Given the description of an element on the screen output the (x, y) to click on. 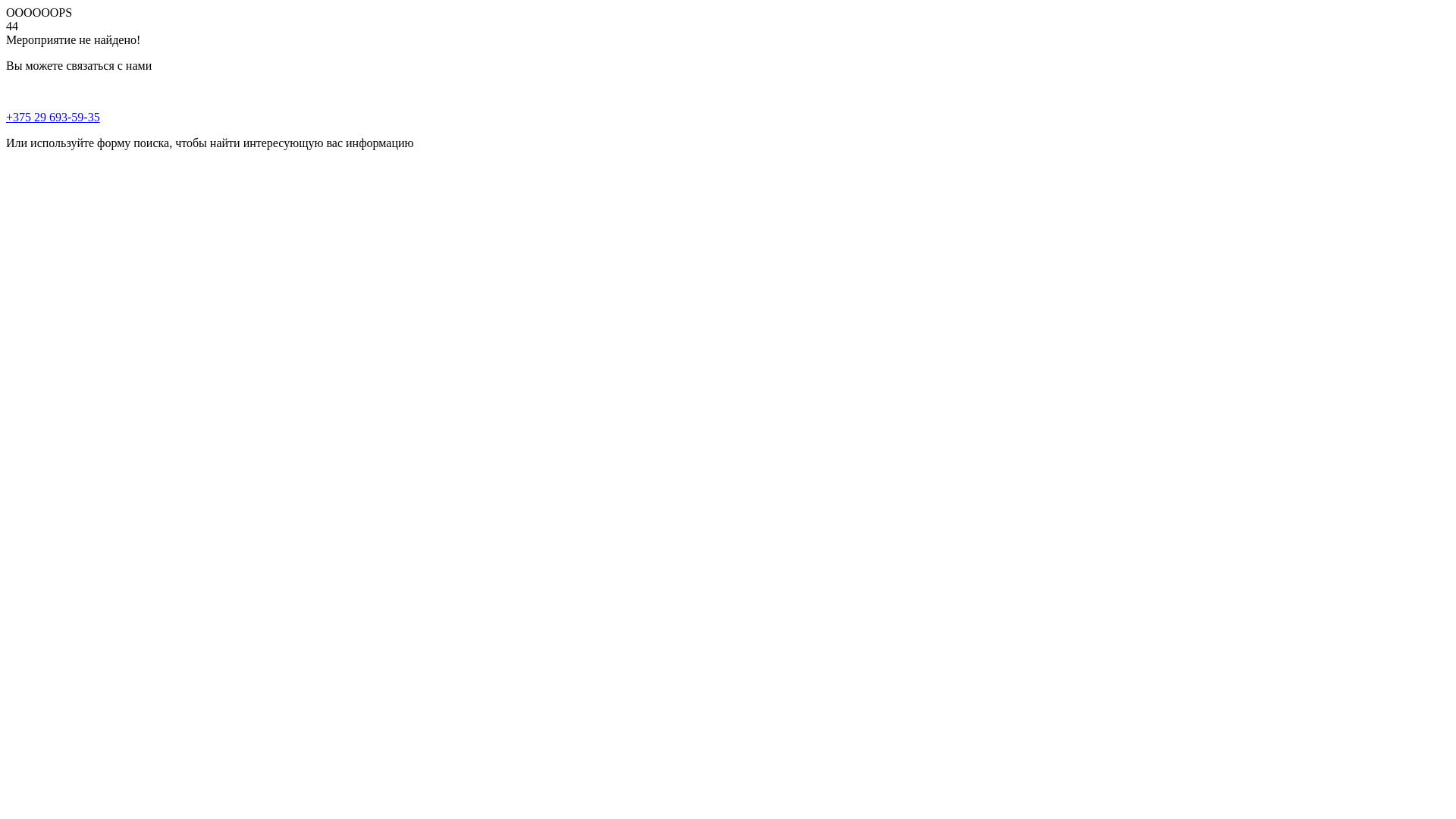
+375 29 693-59-35 Element type: text (53, 116)
